Given the description of an element on the screen output the (x, y) to click on. 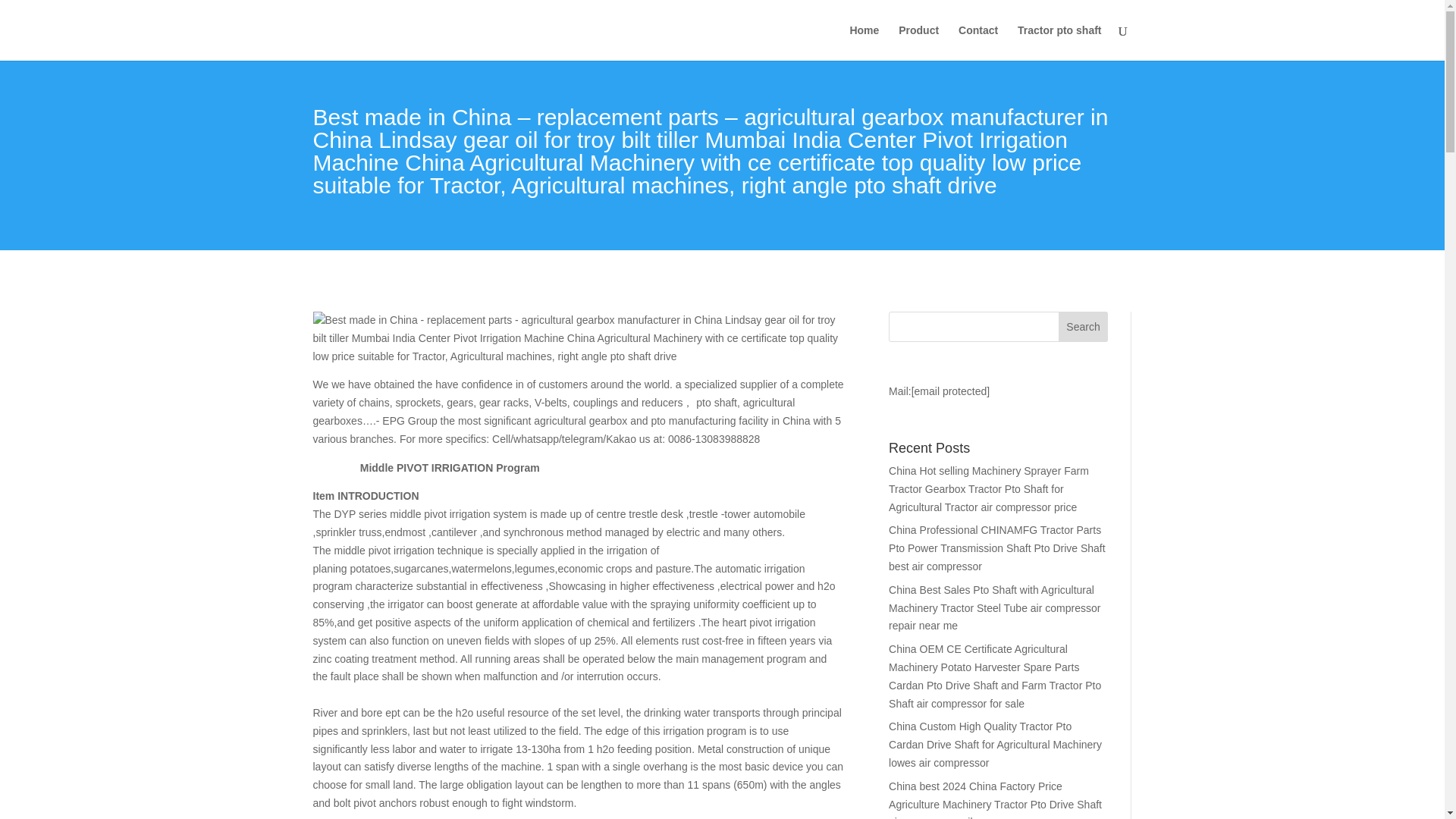
Product (918, 42)
Search (1083, 327)
Tractor pto shaft (1058, 42)
Contact (977, 42)
